Given the description of an element on the screen output the (x, y) to click on. 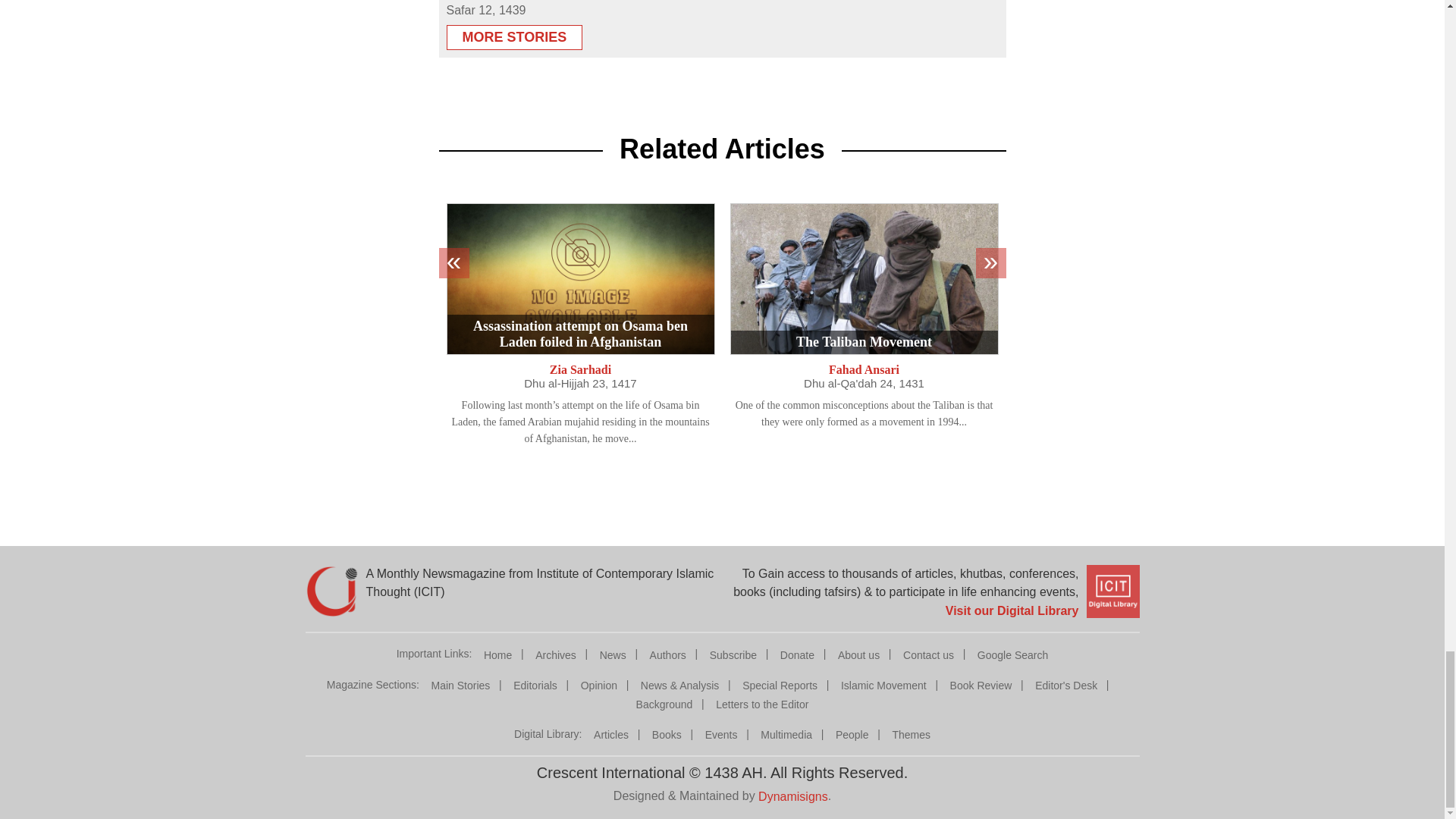
MORE STORIES (513, 37)
MORE STORIES (513, 32)
